Given the description of an element on the screen output the (x, y) to click on. 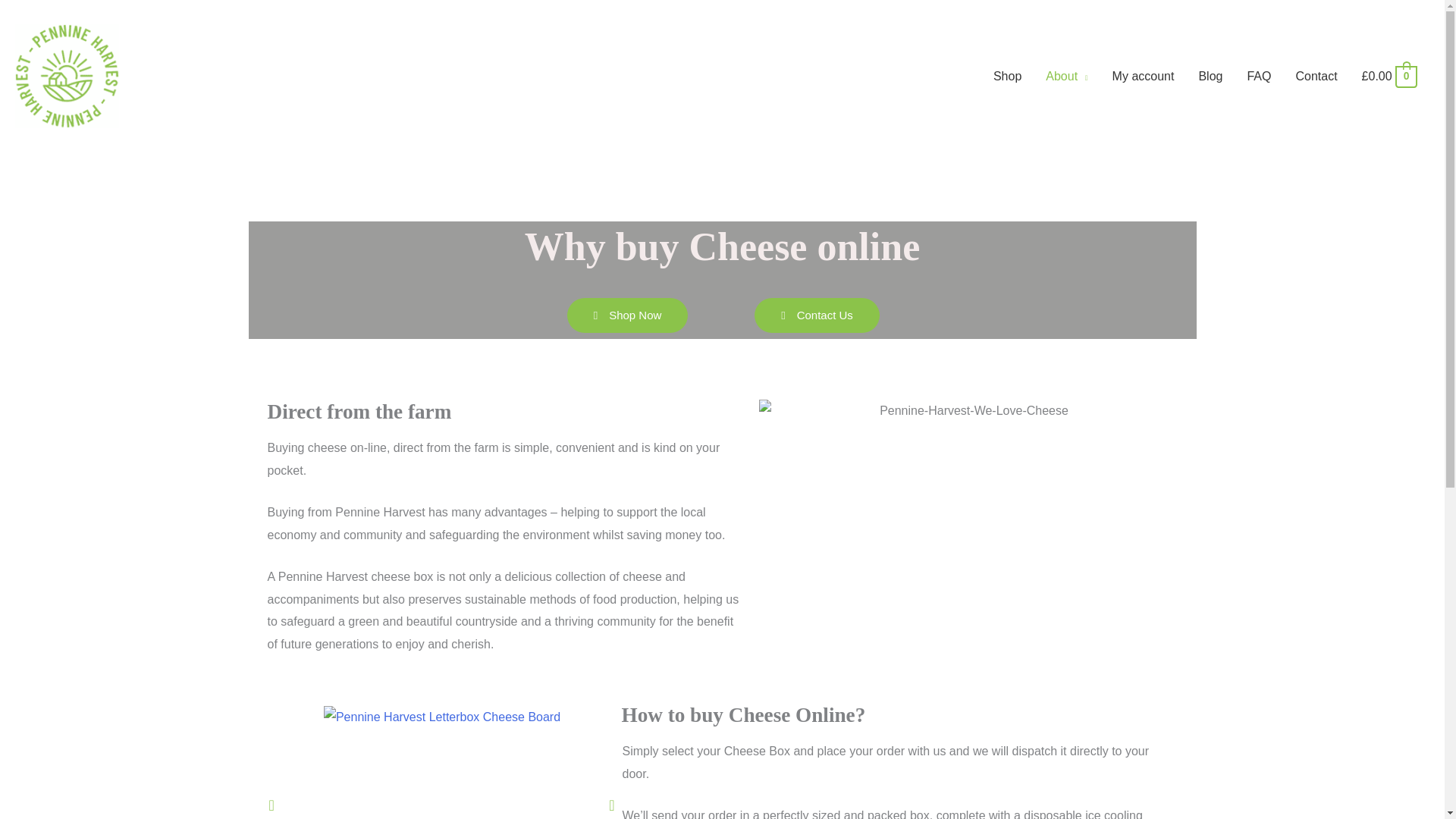
Contact (1315, 75)
Contact Us (816, 315)
Shop (1007, 75)
FAQ (1258, 75)
View your shopping basket (1388, 75)
About (1066, 75)
My account (1143, 75)
Blog (1210, 75)
Shop Now (627, 315)
